Given the description of an element on the screen output the (x, y) to click on. 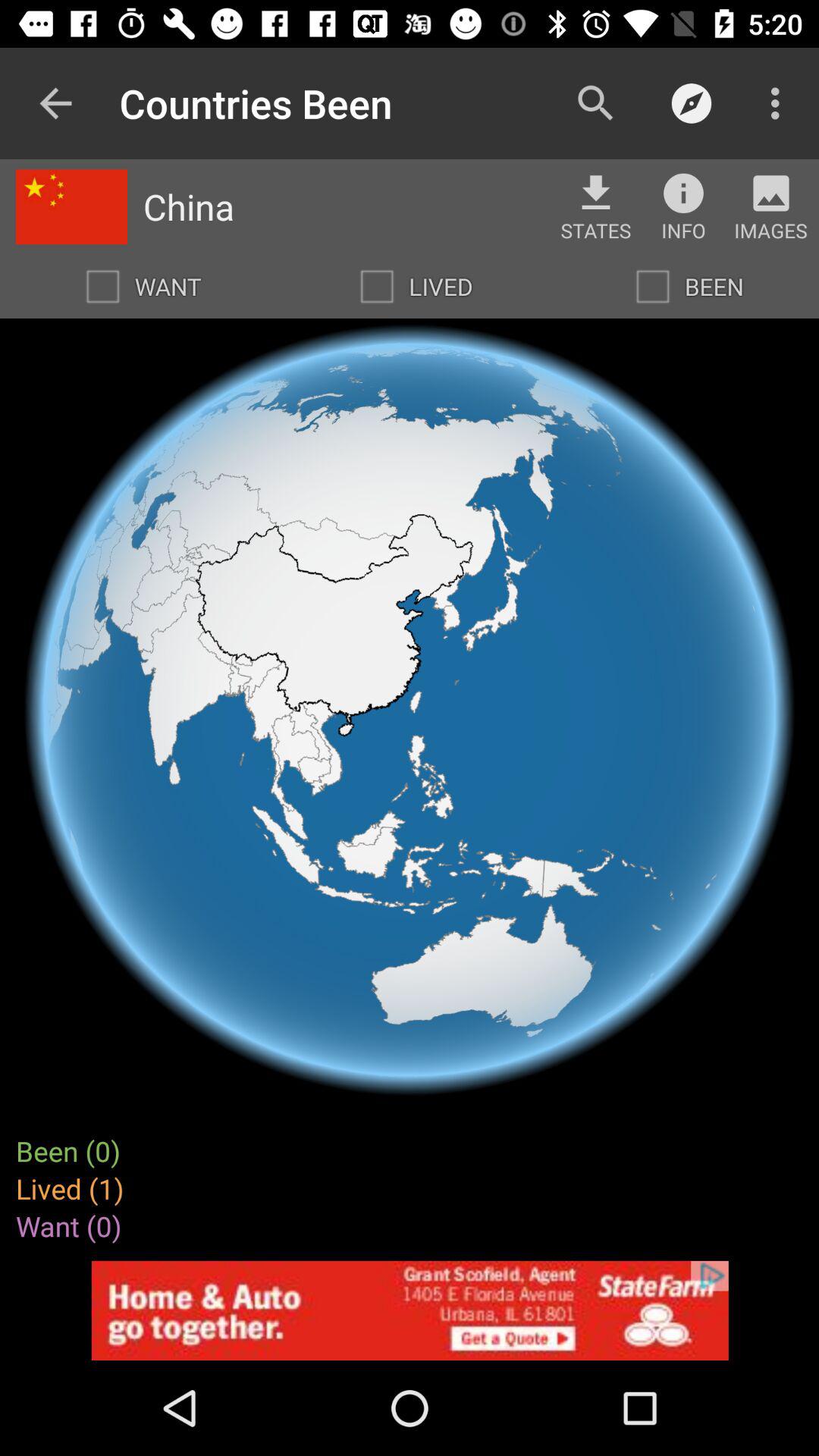
toggle want (102, 286)
